Given the description of an element on the screen output the (x, y) to click on. 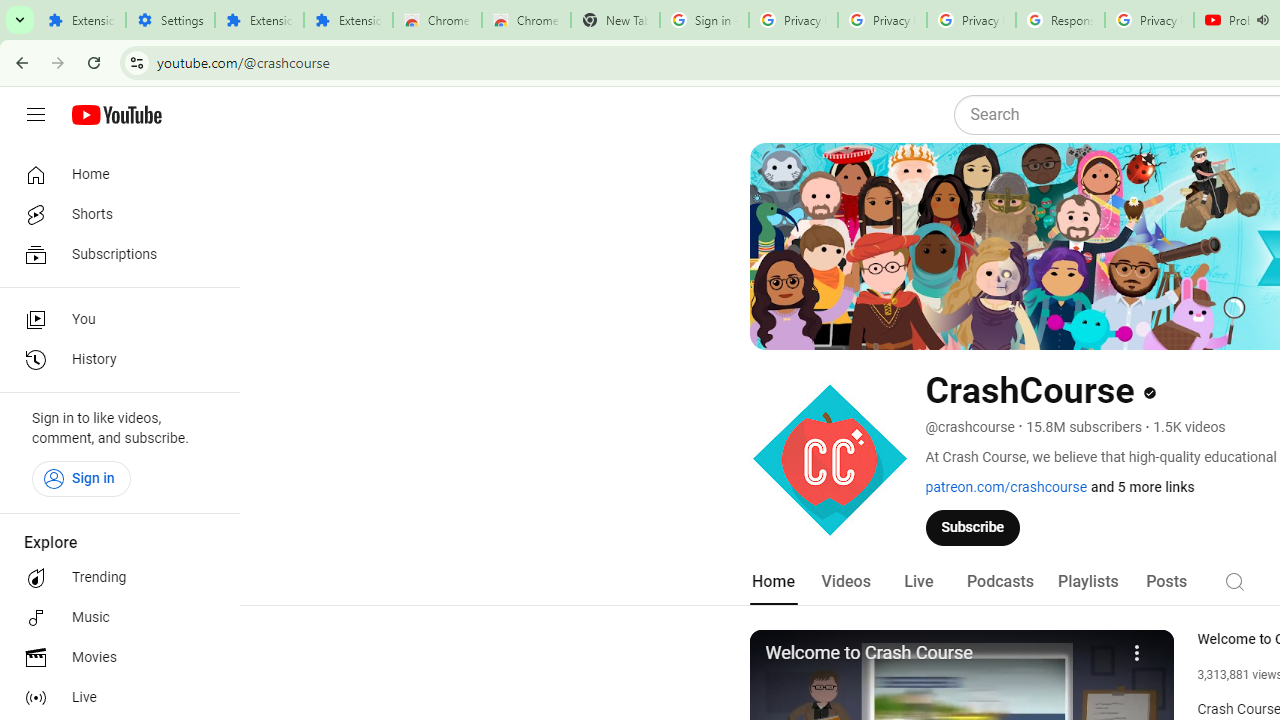
Extensions (81, 20)
Shorts (113, 214)
Posts (1165, 581)
More (1137, 650)
Subscriptions (113, 254)
Podcasts (1000, 581)
Trending (113, 578)
Chrome Web Store (437, 20)
Settings (170, 20)
Live (918, 581)
Home (772, 581)
